Given the description of an element on the screen output the (x, y) to click on. 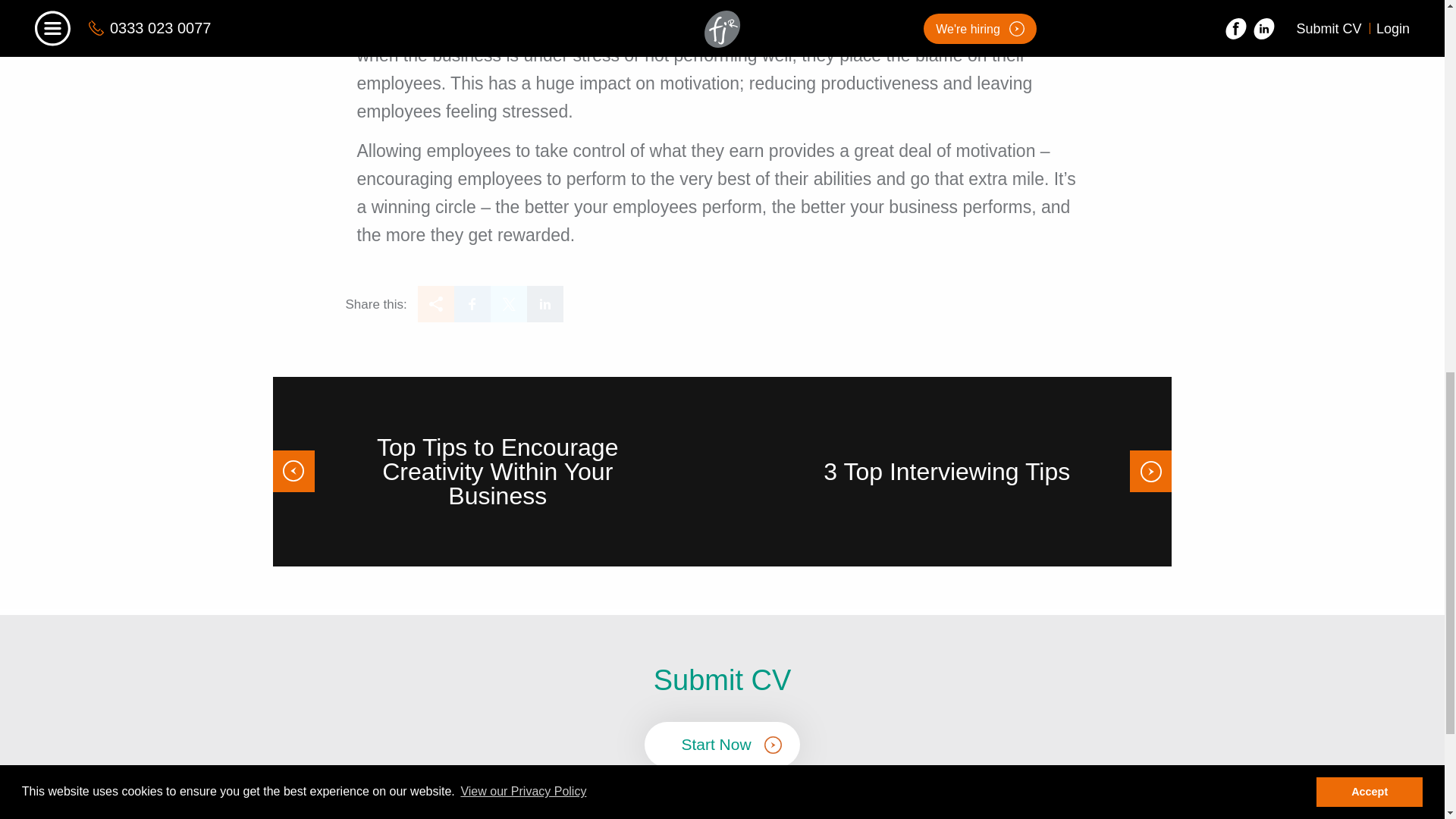
Top Tips to Encourage Creativity Within Your Business (497, 471)
Start Now (722, 744)
3 Top Interviewing Tips (947, 471)
Top Tips to Encourage Creativity Within Your Business (497, 471)
3 Top Interviewing Tips (947, 471)
